Given the description of an element on the screen output the (x, y) to click on. 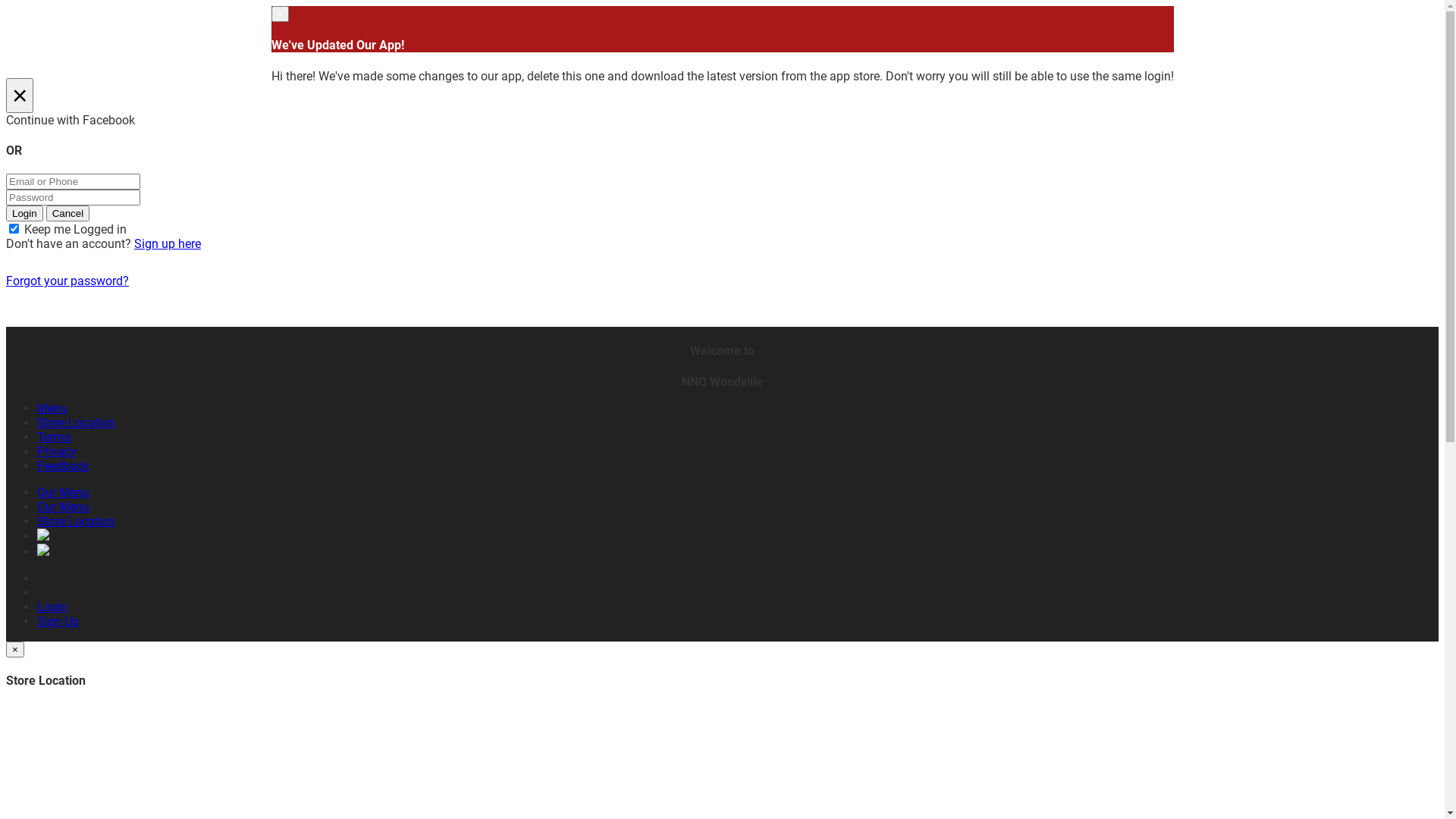
Privacy Element type: text (56, 451)
Feedback Element type: text (62, 465)
Login Element type: text (24, 213)
Store Location Element type: text (76, 422)
Our Menu Element type: text (63, 506)
Terms Element type: text (53, 436)
Cancel Element type: text (68, 213)
Sign Up Element type: text (57, 621)
Continue with Facebook Element type: text (722, 119)
Forgot your password? Element type: text (67, 280)
Store Location Element type: text (76, 521)
Login Element type: text (52, 606)
Menu Element type: text (52, 408)
Our Menu Element type: text (63, 492)
Sign up here Element type: text (167, 243)
